Given the description of an element on the screen output the (x, y) to click on. 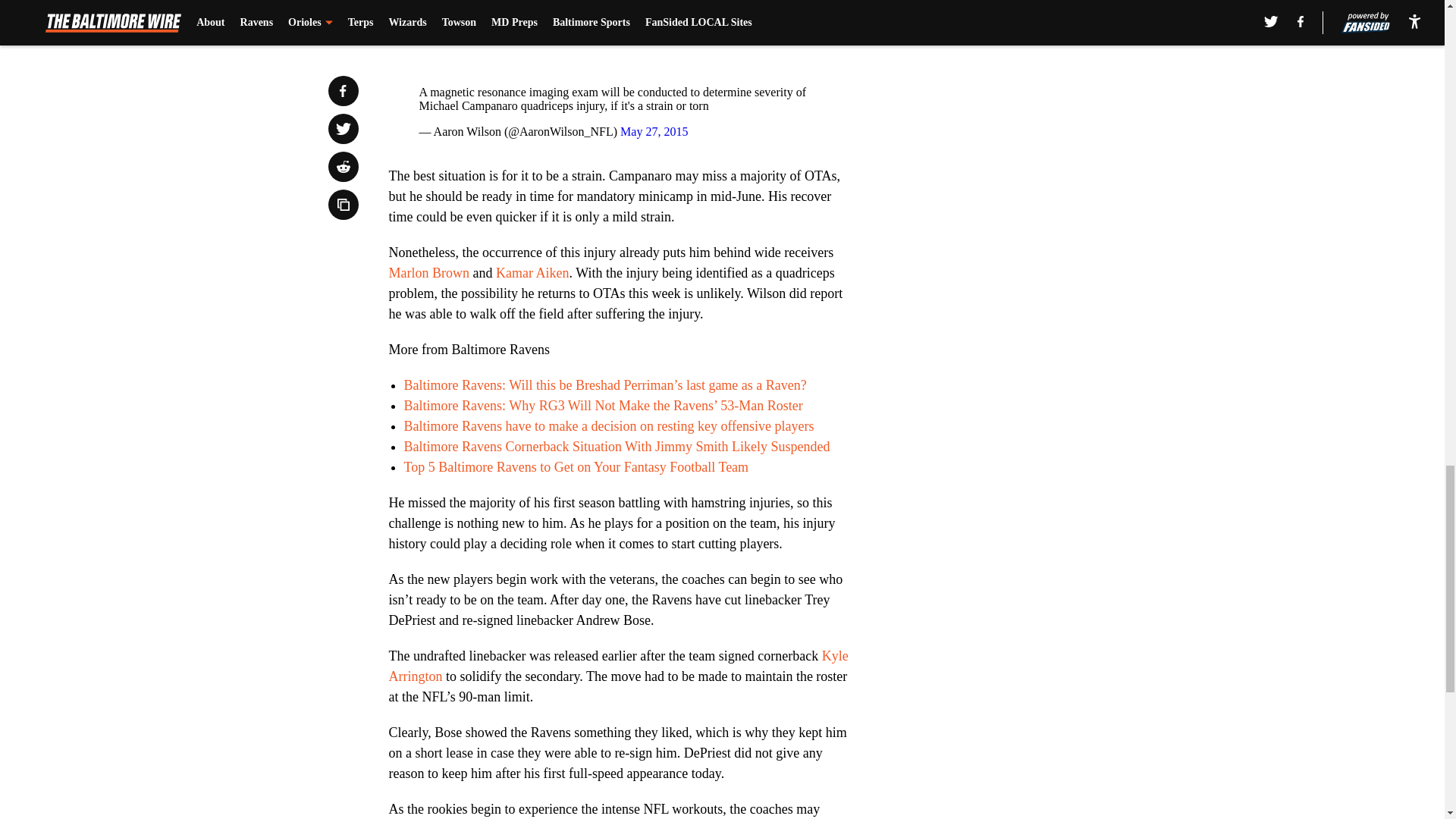
Marlon Brown (428, 272)
Kamar Aiken (532, 272)
Steve Smith (820, 1)
Kyle Arrington (617, 665)
May 27, 2015 (653, 131)
Top 5 Baltimore Ravens to Get on Your Fantasy Football Team (575, 467)
